Given the description of an element on the screen output the (x, y) to click on. 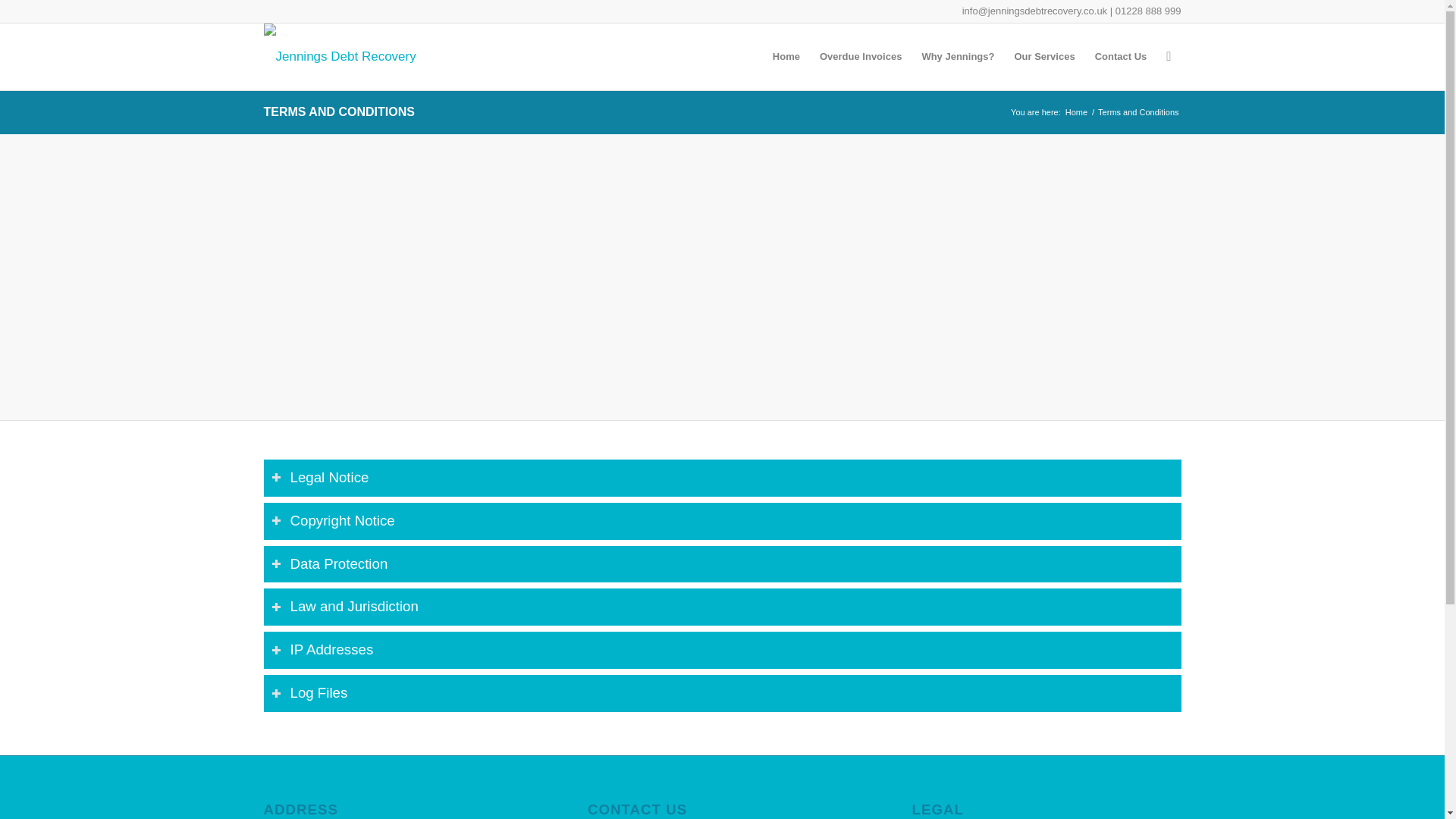
Overdue Invoices (860, 56)
Home (1075, 112)
Our Services (1044, 56)
TERMS AND CONDITIONS (338, 111)
Why Jennings? (957, 56)
Contact Us (1120, 56)
01228 888 999 (1147, 10)
Permanent Link: Terms and Conditions (338, 111)
Jennings Debt Recovery Solicitors (1075, 112)
